Given the description of an element on the screen output the (x, y) to click on. 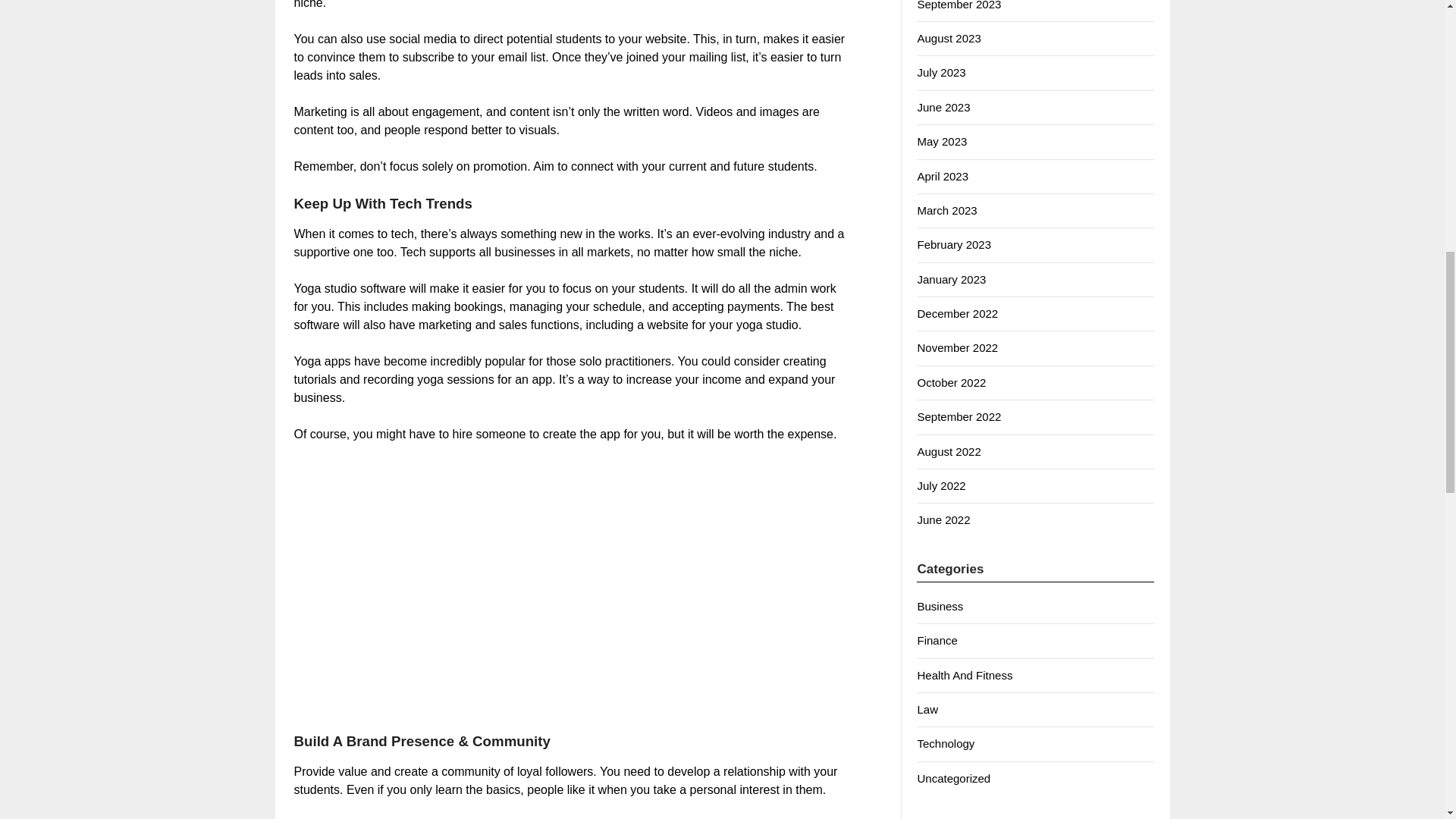
July 2023 (941, 72)
June 2023 (943, 106)
March 2023 (946, 210)
May 2023 (941, 141)
August 2023 (948, 38)
January 2023 (951, 278)
April 2023 (942, 175)
September 2023 (959, 5)
February 2023 (954, 244)
